Given the description of an element on the screen output the (x, y) to click on. 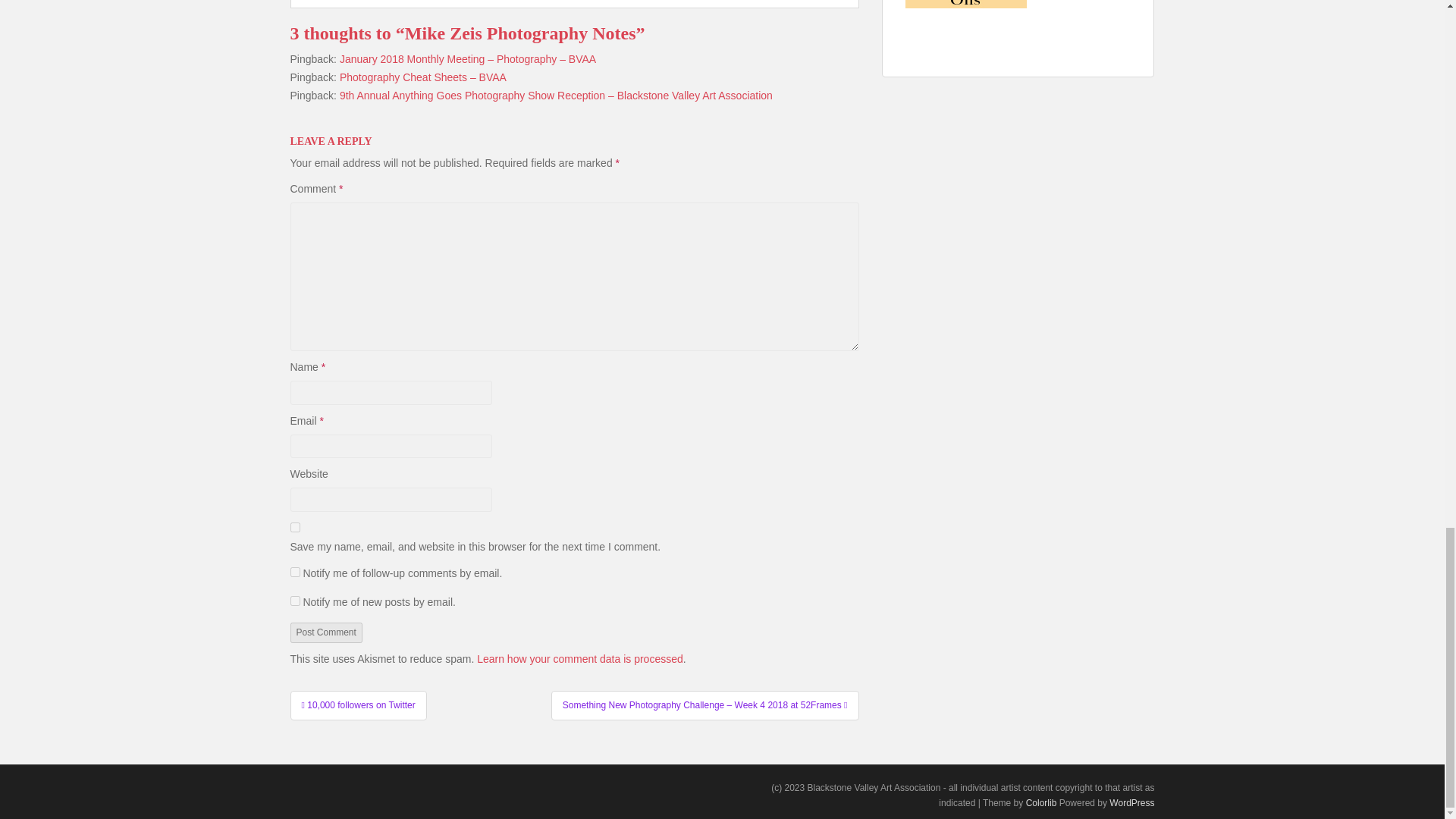
Post Comment (325, 632)
subscribe (294, 572)
subscribe (294, 601)
yes (294, 527)
